Given the description of an element on the screen output the (x, y) to click on. 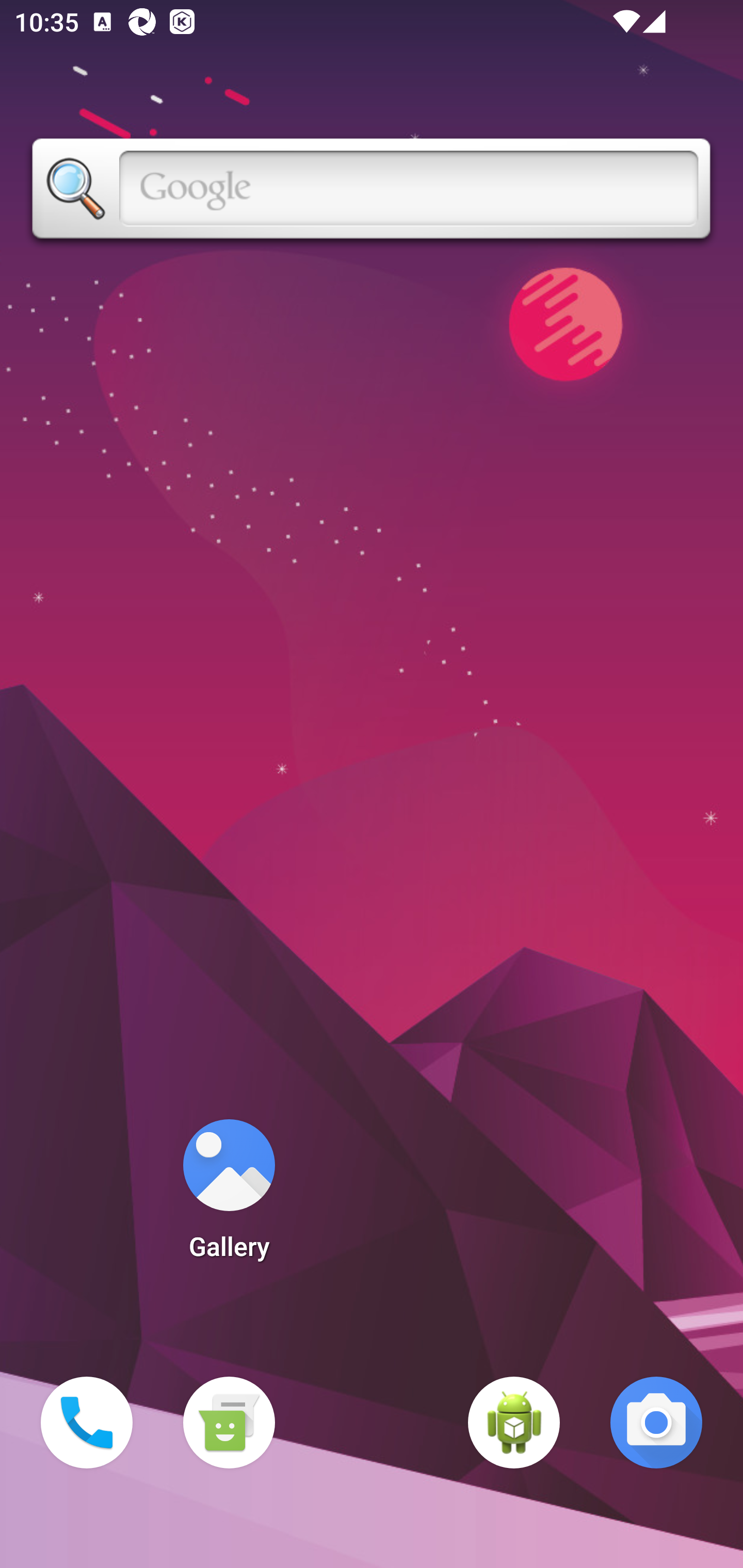
Gallery (228, 1195)
Phone (86, 1422)
Messaging (228, 1422)
WebView Browser Tester (513, 1422)
Camera (656, 1422)
